Given the description of an element on the screen output the (x, y) to click on. 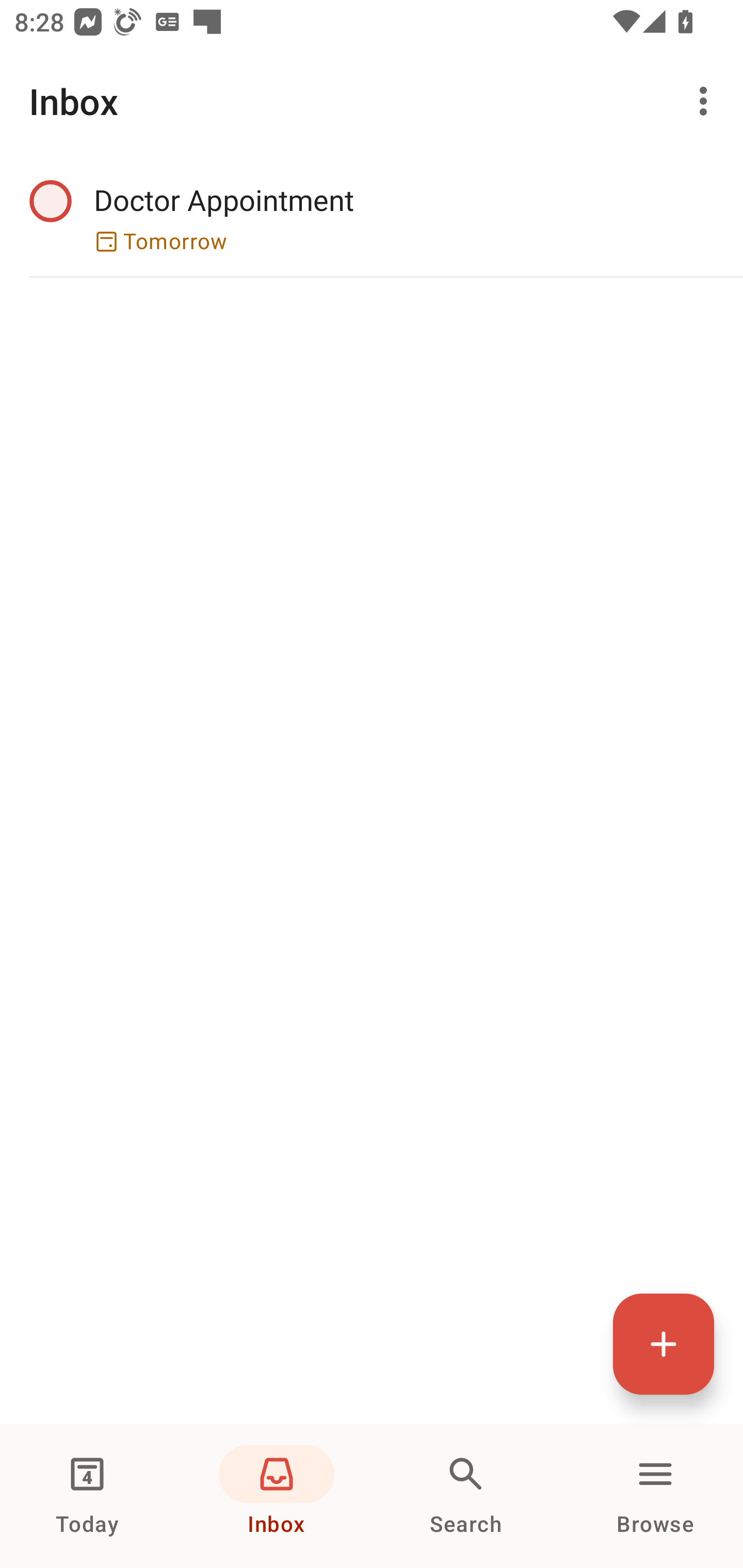
Inbox More options (371, 100)
More options (706, 101)
Complete Doctor Appointment Tomorrow (371, 216)
Complete (50, 200)
Quick add (663, 1343)
Today (87, 1495)
Search (465, 1495)
Browse (655, 1495)
